Given the description of an element on the screen output the (x, y) to click on. 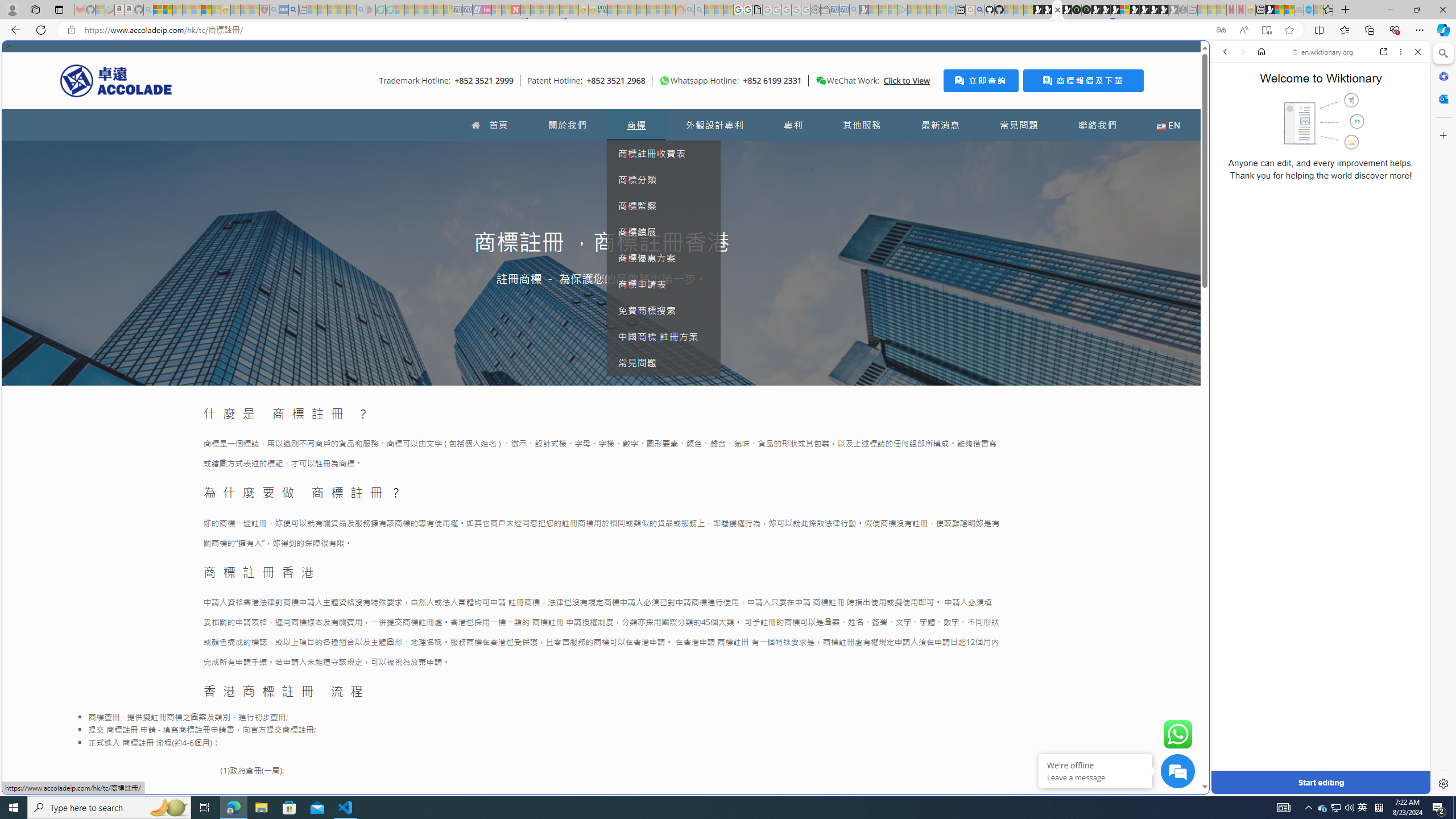
Web scope (1230, 102)
Search Filter, IMAGES (1262, 129)
Microsoft account | Privacy - Sleeping (892, 9)
Services - Maintenance | Sky Blue Bikes - Sky Blue Bikes (1307, 9)
Play Cave FRVR in your browser | Games from Microsoft Start (922, 242)
Future Focus Report 2024 (1085, 9)
